Given the description of an element on the screen output the (x, y) to click on. 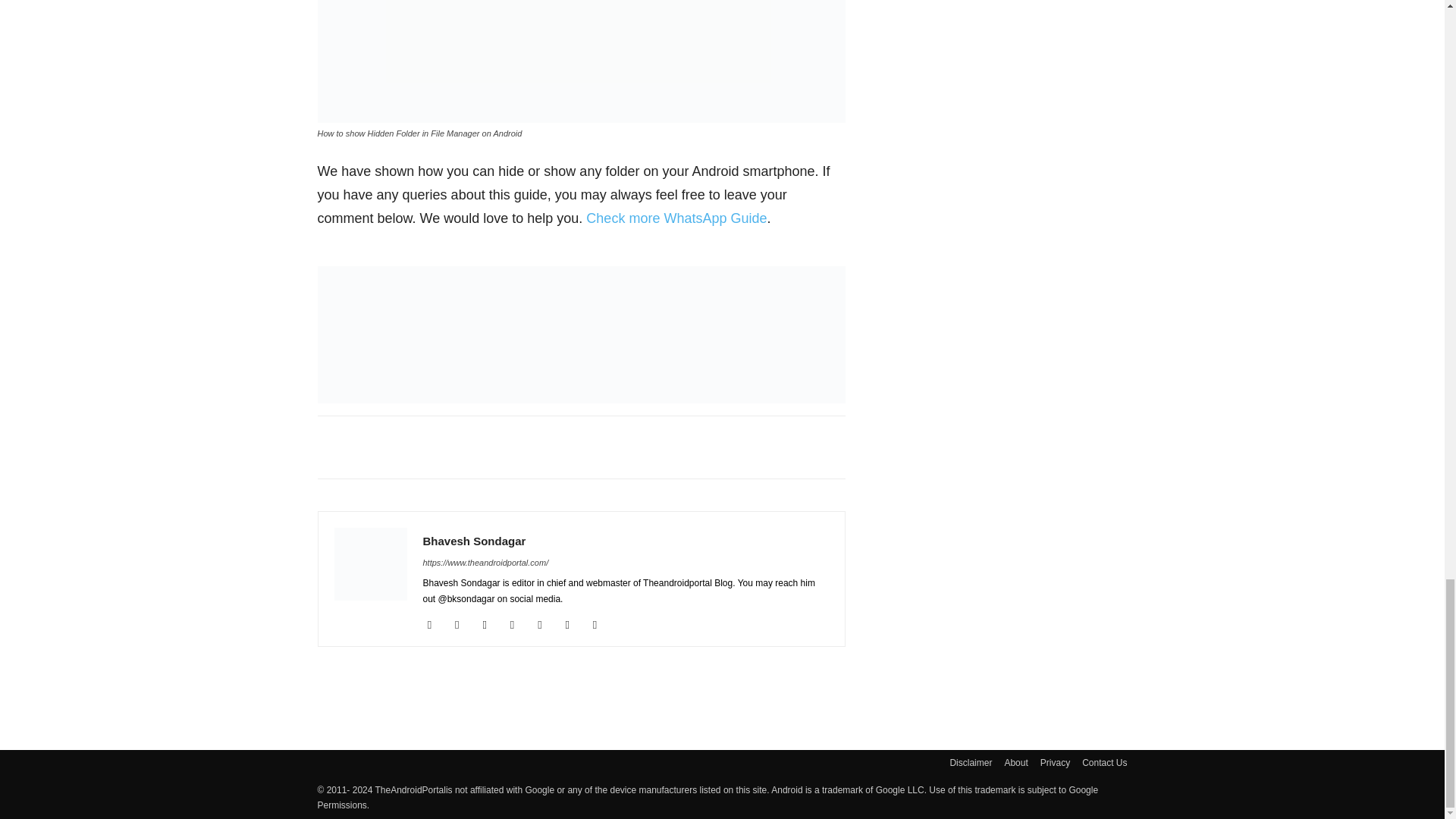
Hide Whatsapp Photos from Gallery 3 (580, 61)
